Given the description of an element on the screen output the (x, y) to click on. 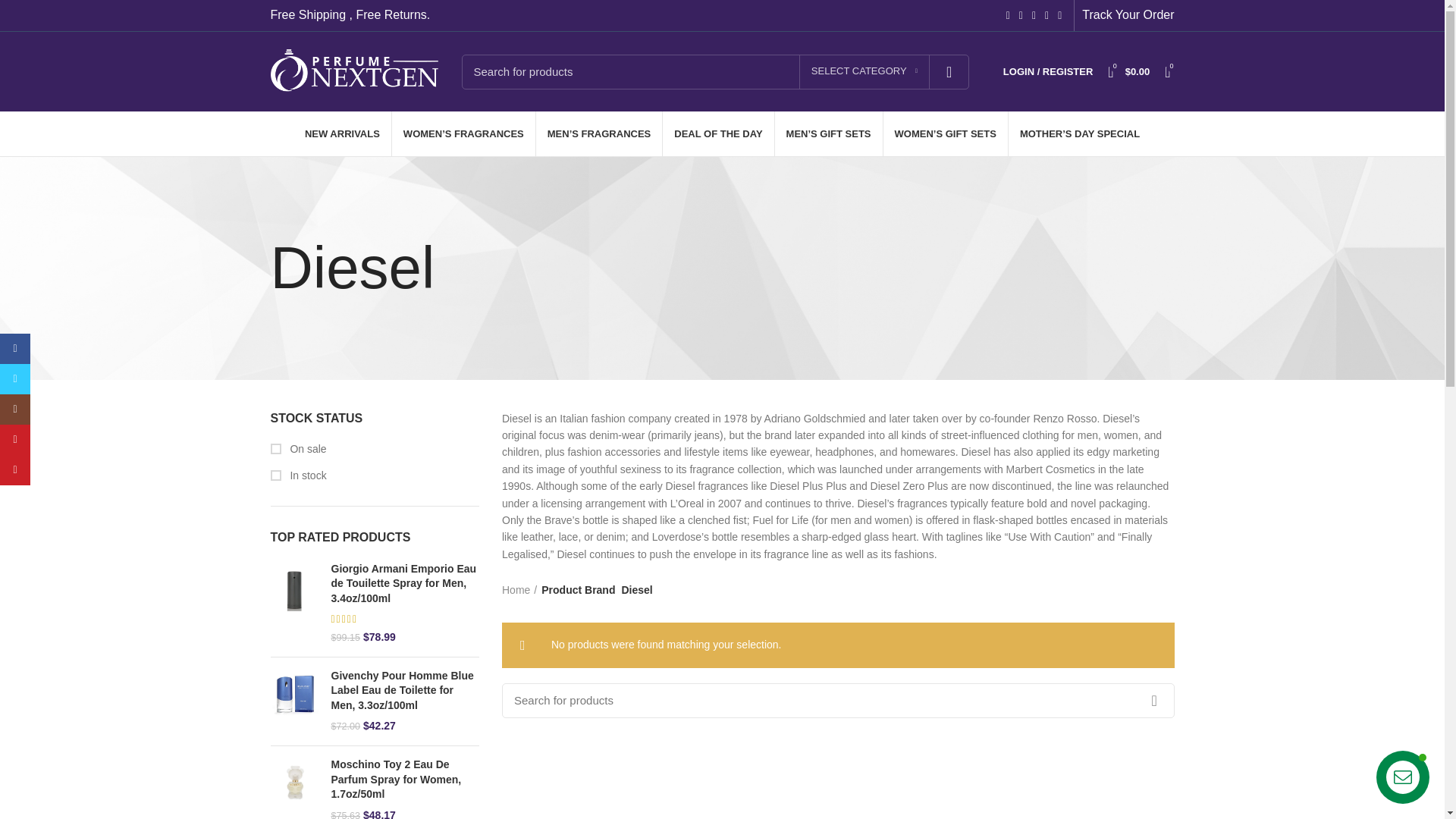
On sale (374, 449)
Search for products (714, 71)
DEAL OF THE DAY (717, 133)
Search for products (838, 699)
Shopping cart (1128, 71)
SELECT CATEGORY (864, 70)
NEW ARRIVALS (342, 133)
SEARCH (949, 71)
My account (1047, 71)
SELECT CATEGORY (864, 70)
In stock (374, 476)
